Given the description of an element on the screen output the (x, y) to click on. 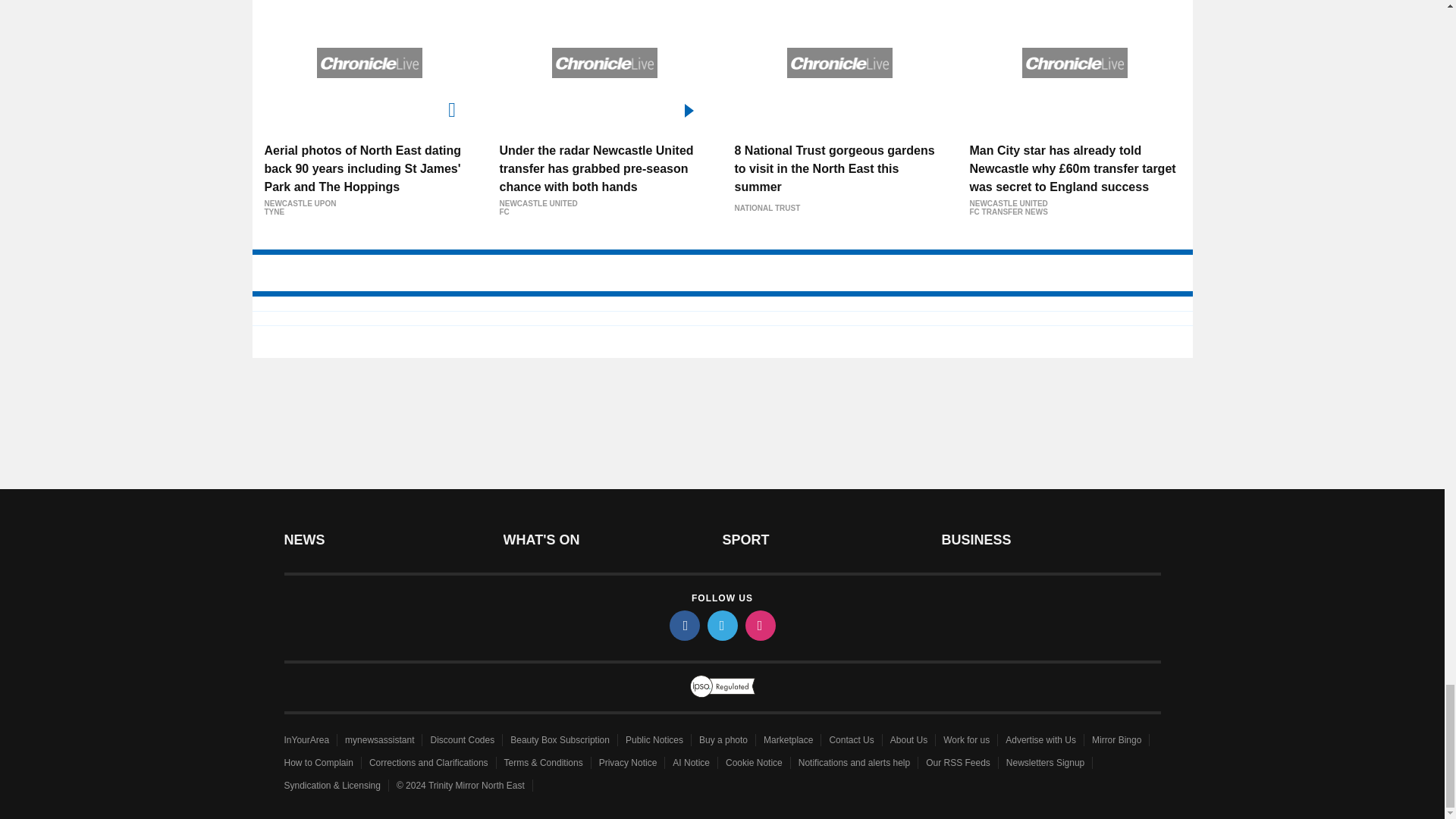
twitter (721, 625)
facebook (683, 625)
instagram (759, 625)
